Given the description of an element on the screen output the (x, y) to click on. 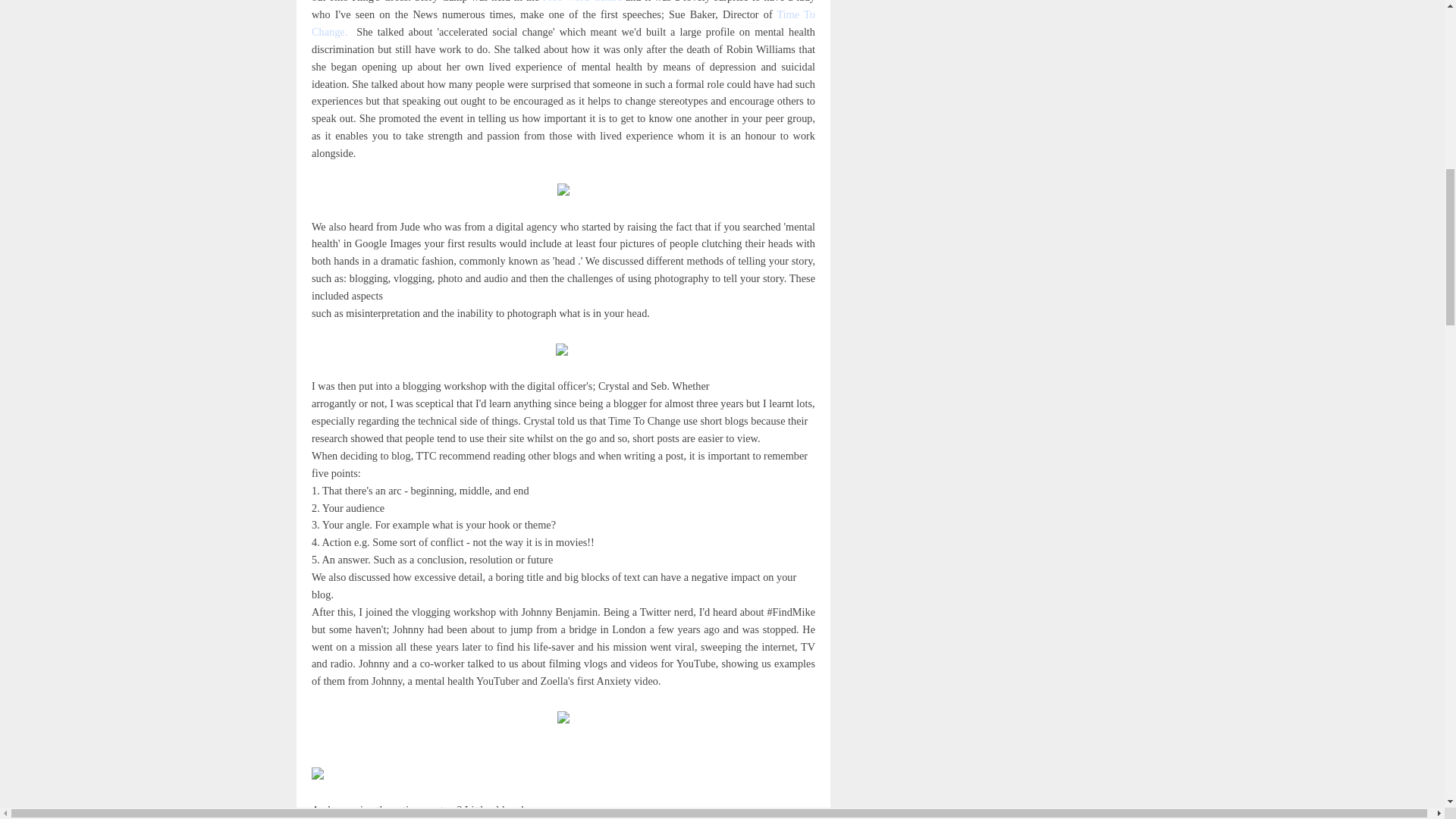
Free Word Centre (582, 1)
Time To Change.  (563, 22)
